Given the description of an element on the screen output the (x, y) to click on. 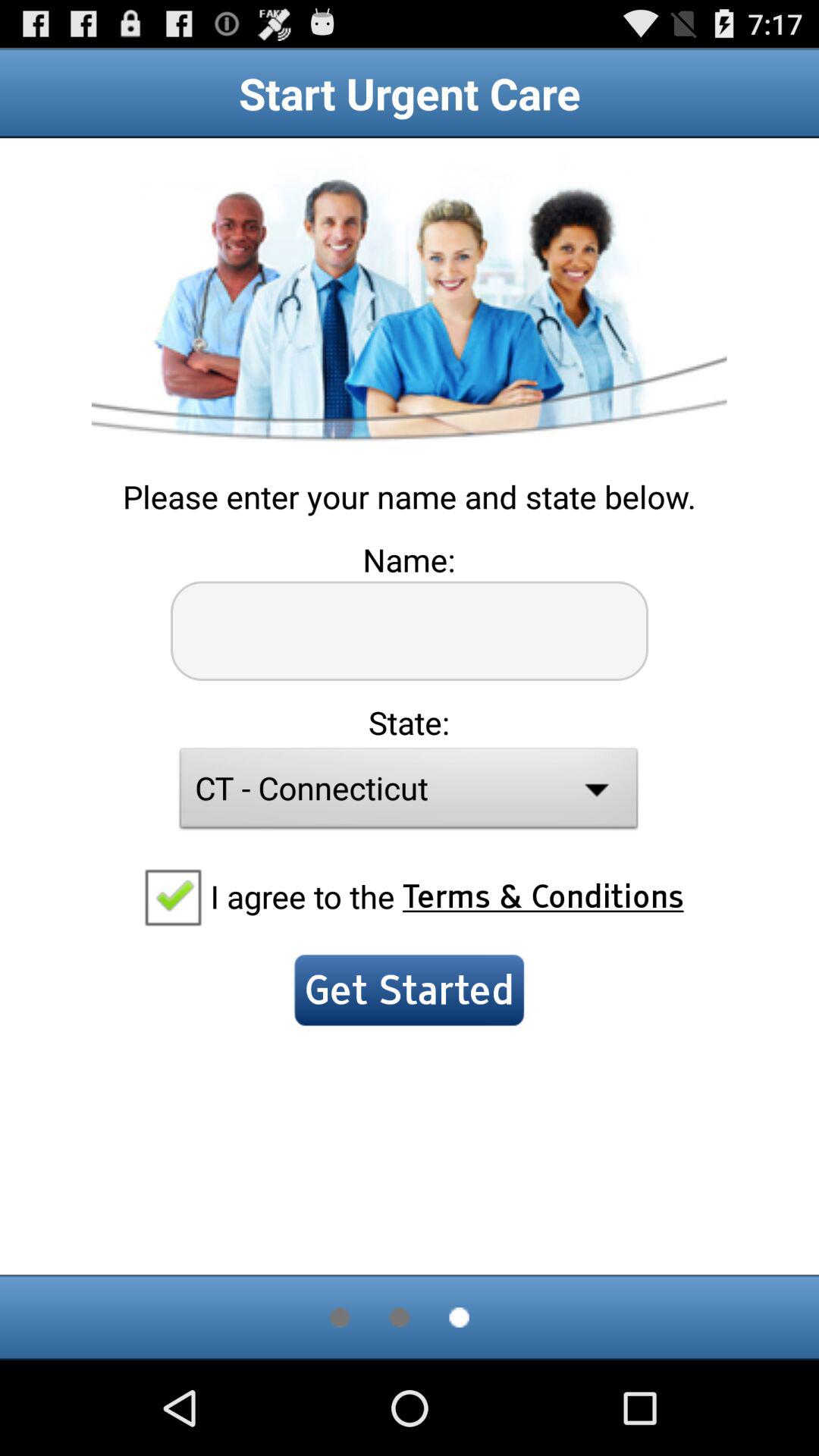
check to agree to terms condtions (172, 896)
